Given the description of an element on the screen output the (x, y) to click on. 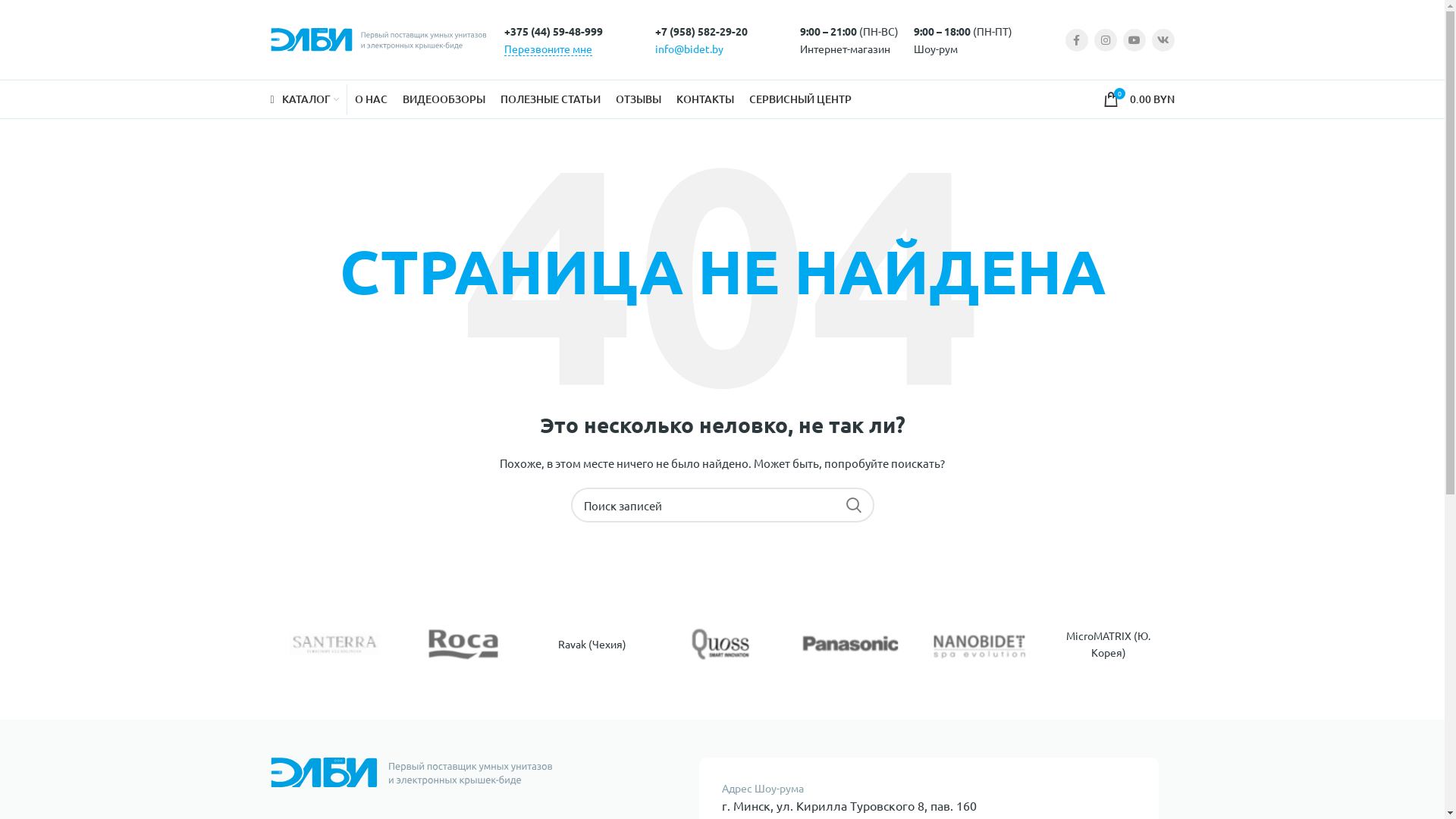
0
0.00 BYN Element type: text (1138, 99)
info@bidet.by Element type: text (689, 47)
+7 (958) 582-29-20 Element type: text (701, 30)
+375 (44) 59-48-999 Element type: text (552, 30)
